Given the description of an element on the screen output the (x, y) to click on. 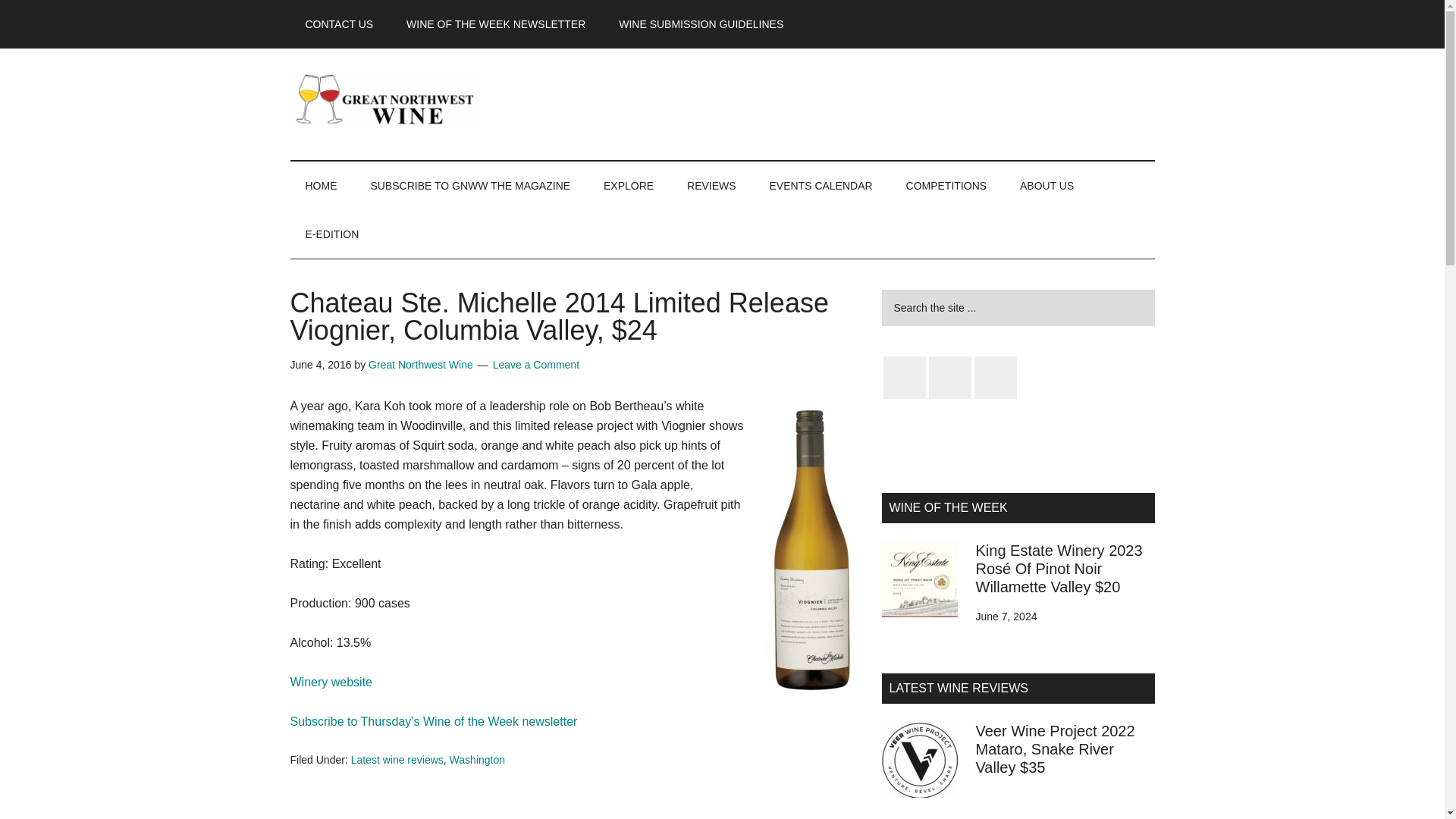
COMPETITIONS (947, 185)
EVENTS CALENDAR (820, 185)
CONTACT US (338, 24)
EXPLORE (628, 185)
WINE SUBMISSION GUIDELINES (700, 24)
SUBSCRIBE TO GNWW THE MAGAZINE (470, 185)
HOME (320, 185)
WINE OF THE WEEK NEWSLETTER (495, 24)
REVIEWS (711, 185)
